Given the description of an element on the screen output the (x, y) to click on. 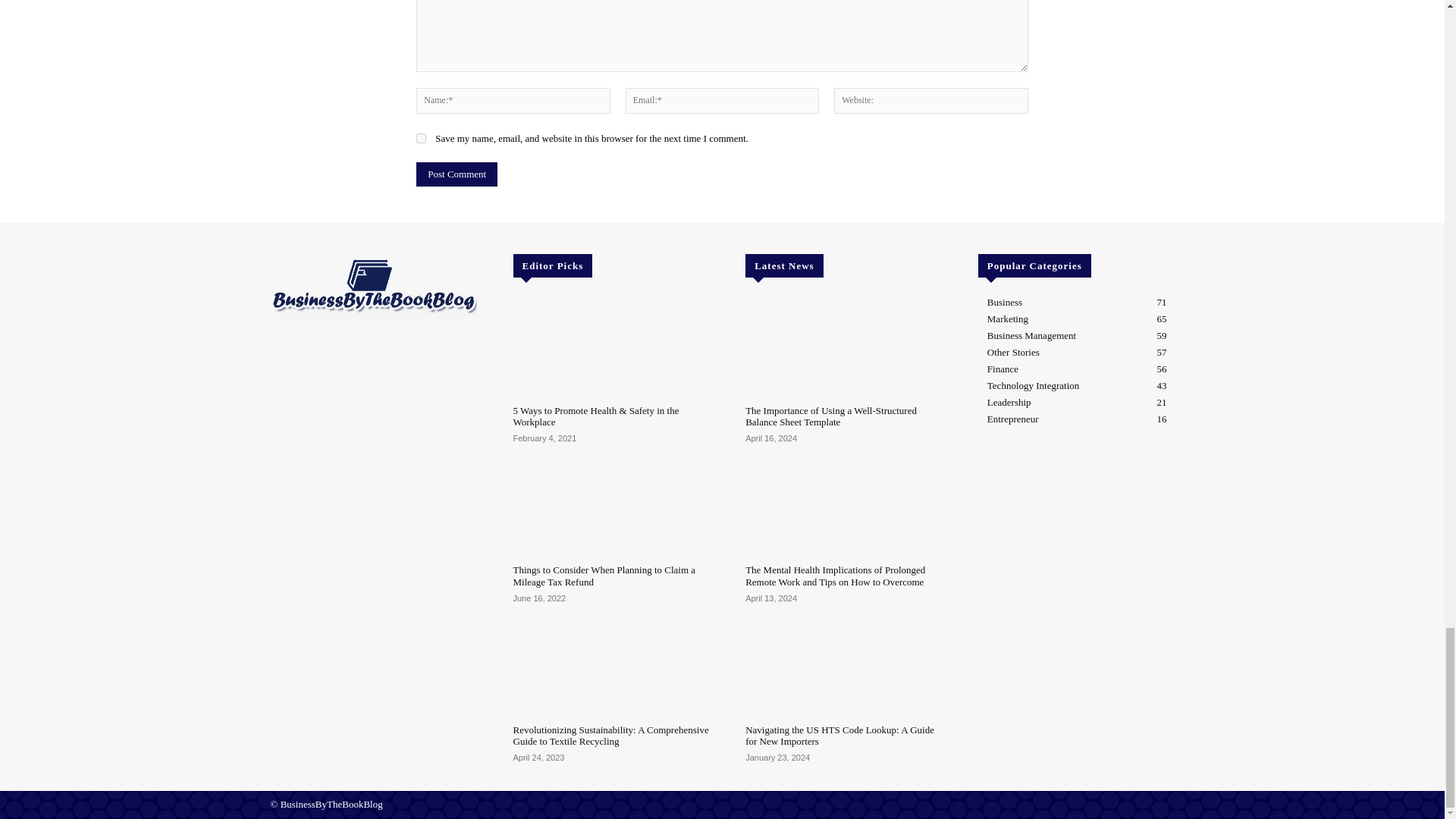
Post Comment (456, 174)
yes (421, 138)
